Given the description of an element on the screen output the (x, y) to click on. 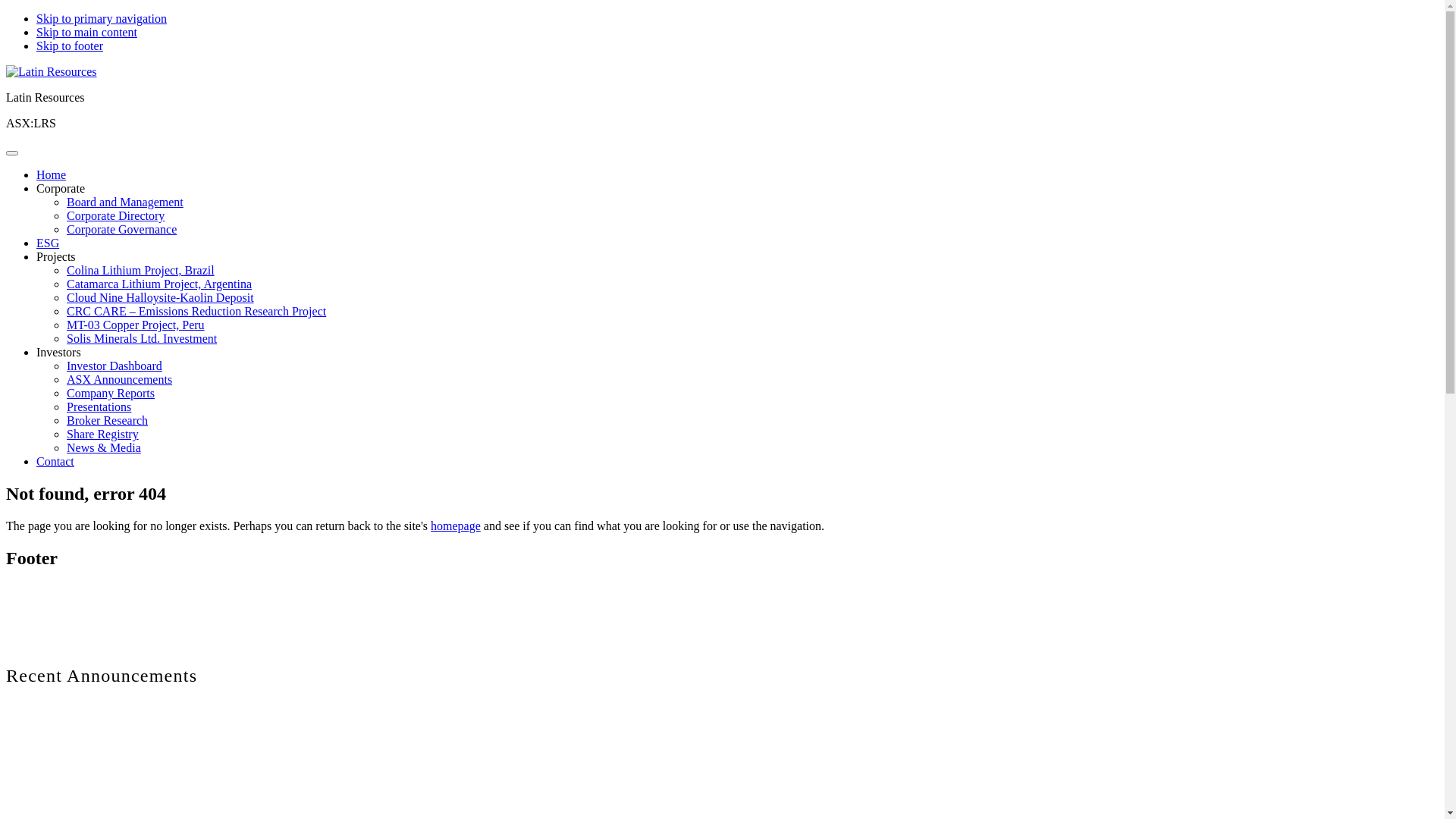
Investor Dashboard Element type: text (114, 365)
Corporate Governance Element type: text (121, 228)
Skip to footer Element type: text (69, 45)
ASX Announcements Element type: text (119, 379)
homepage Element type: text (455, 525)
Home Element type: text (50, 174)
Corporate Directory Element type: text (115, 215)
Board and Management Element type: text (124, 201)
Company Reports Element type: text (110, 392)
Colina Lithium Project, Brazil Element type: text (140, 269)
ESG Element type: text (47, 242)
Contact Element type: text (55, 461)
Projects Element type: text (55, 256)
Presentations Element type: text (98, 406)
Skip to main content Element type: text (86, 31)
Catamarca Lithium Project, Argentina Element type: text (158, 283)
MT-03 Copper Project, Peru Element type: text (135, 324)
Broker Research Element type: text (106, 420)
News & Media Element type: text (103, 447)
Corporate Element type: text (60, 188)
Skip to primary navigation Element type: text (101, 18)
Solis Minerals Ltd. Investment Element type: text (141, 338)
Share Registry Element type: text (102, 433)
Cloud Nine Halloysite-Kaolin Deposit Element type: text (160, 297)
Investors Element type: text (58, 351)
